Given the description of an element on the screen output the (x, y) to click on. 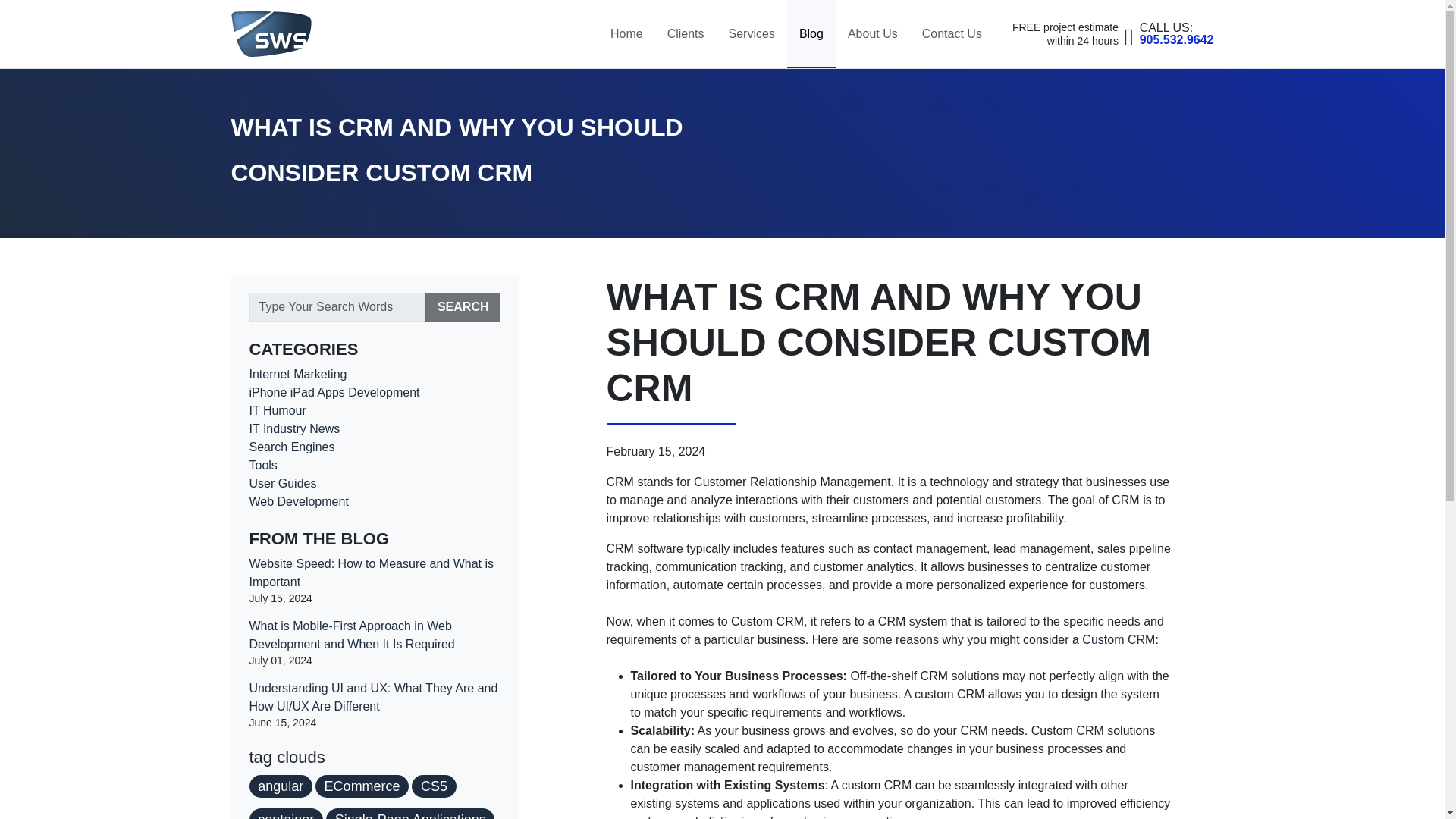
Blog (811, 33)
iPhone iPad Apps Development (333, 391)
ECommerce (362, 786)
angular (279, 786)
Home (626, 33)
Website Speed: How to Measure and What is Important (370, 572)
IT Industry News (293, 428)
Search Engines (291, 446)
container (284, 813)
Contact Us (952, 33)
SEARCH (1177, 33)
Single-Page Applications (462, 306)
User Guides (410, 813)
Clients (281, 482)
